Given the description of an element on the screen output the (x, y) to click on. 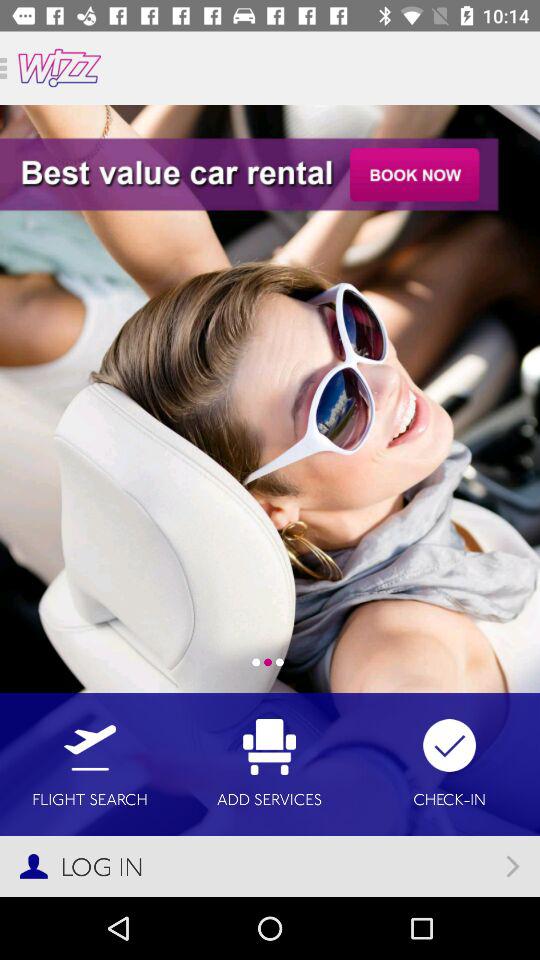
open the item next to flight search icon (269, 764)
